Given the description of an element on the screen output the (x, y) to click on. 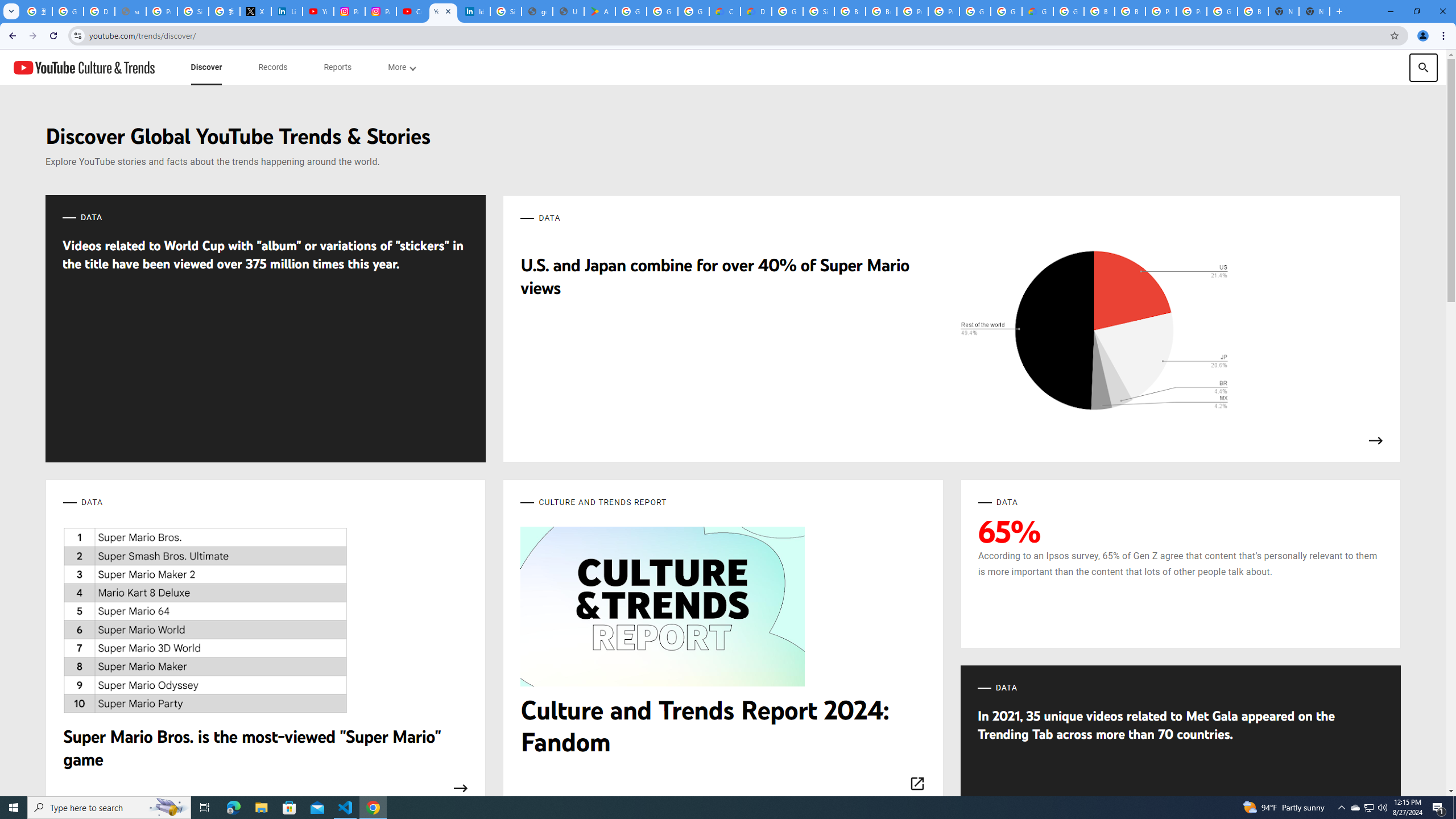
subnav-Reports menupopup (337, 67)
Browse Chrome as a guest - Computer - Google Chrome Help (881, 11)
subnav-Records menupopup (272, 67)
Privacy Help Center - Policies Help (161, 11)
subnav-Records menupopup (272, 67)
Sign in - Google Accounts (818, 11)
